Given the description of an element on the screen output the (x, y) to click on. 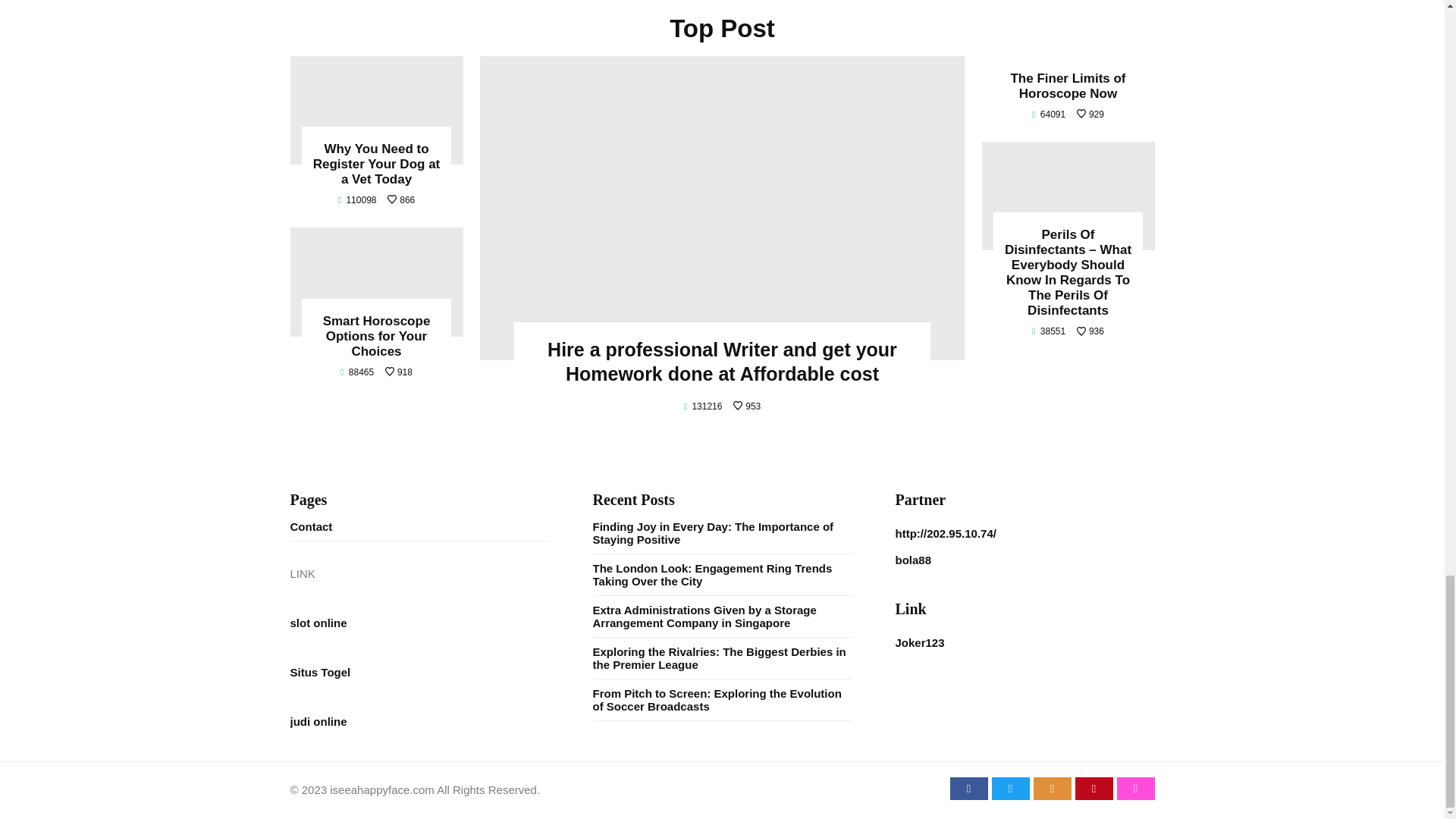
Like (398, 371)
Like (1090, 330)
Like (1090, 113)
Like (746, 406)
Like (400, 199)
